Given the description of an element on the screen output the (x, y) to click on. 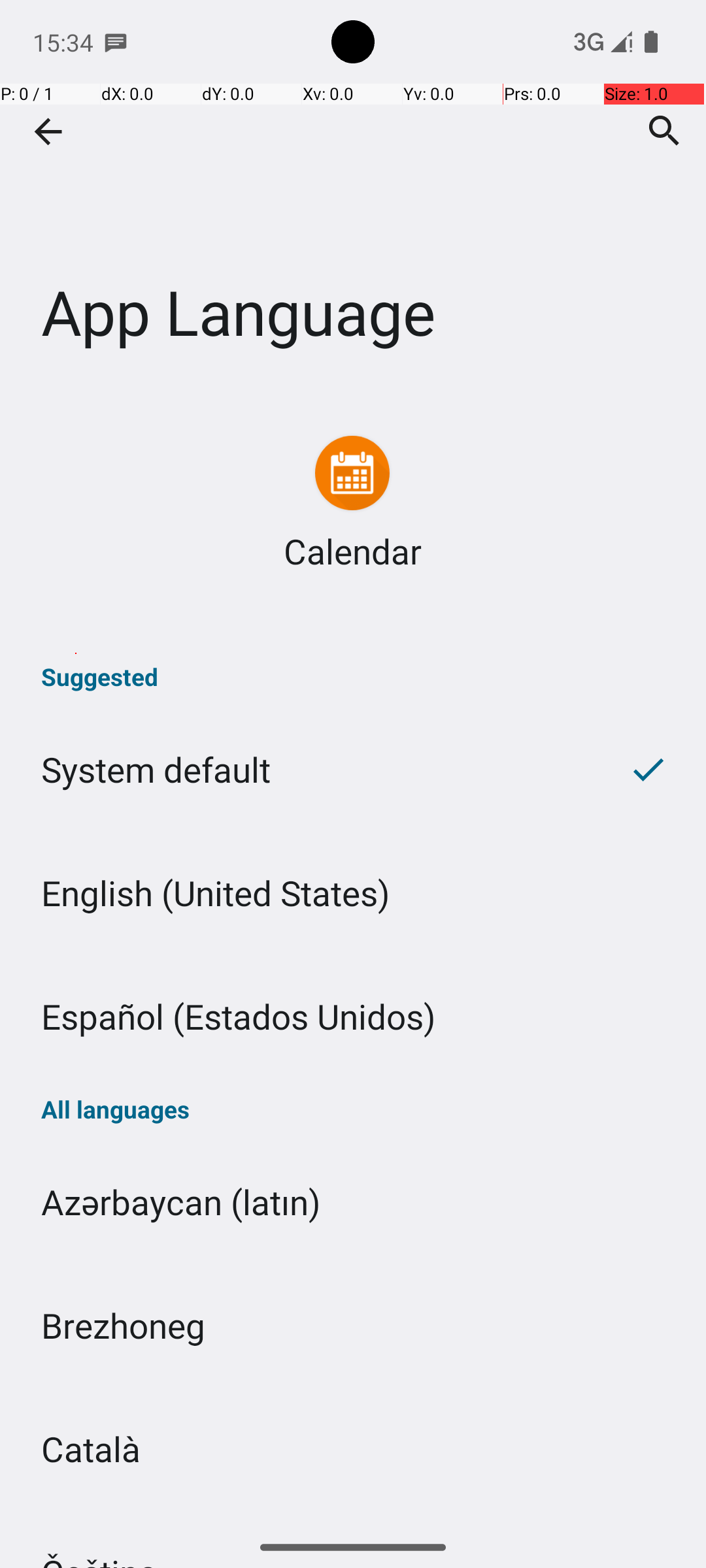
App Language Element type: android.widget.FrameLayout (353, 195)
Suggested Element type: android.widget.TextView (353, 676)
English (United States) Element type: android.widget.TextView (353, 892)
Español (Estados Unidos) Element type: android.widget.TextView (353, 1016)
All languages Element type: android.widget.TextView (353, 1109)
Azərbaycan (latın) Element type: android.widget.TextView (353, 1201)
Brezhoneg Element type: android.widget.TextView (353, 1325)
Català Element type: android.widget.TextView (353, 1448)
Čeština Element type: android.widget.TextView (353, 1518)
System default Element type: android.widget.TextView (295, 769)
